Given the description of an element on the screen output the (x, y) to click on. 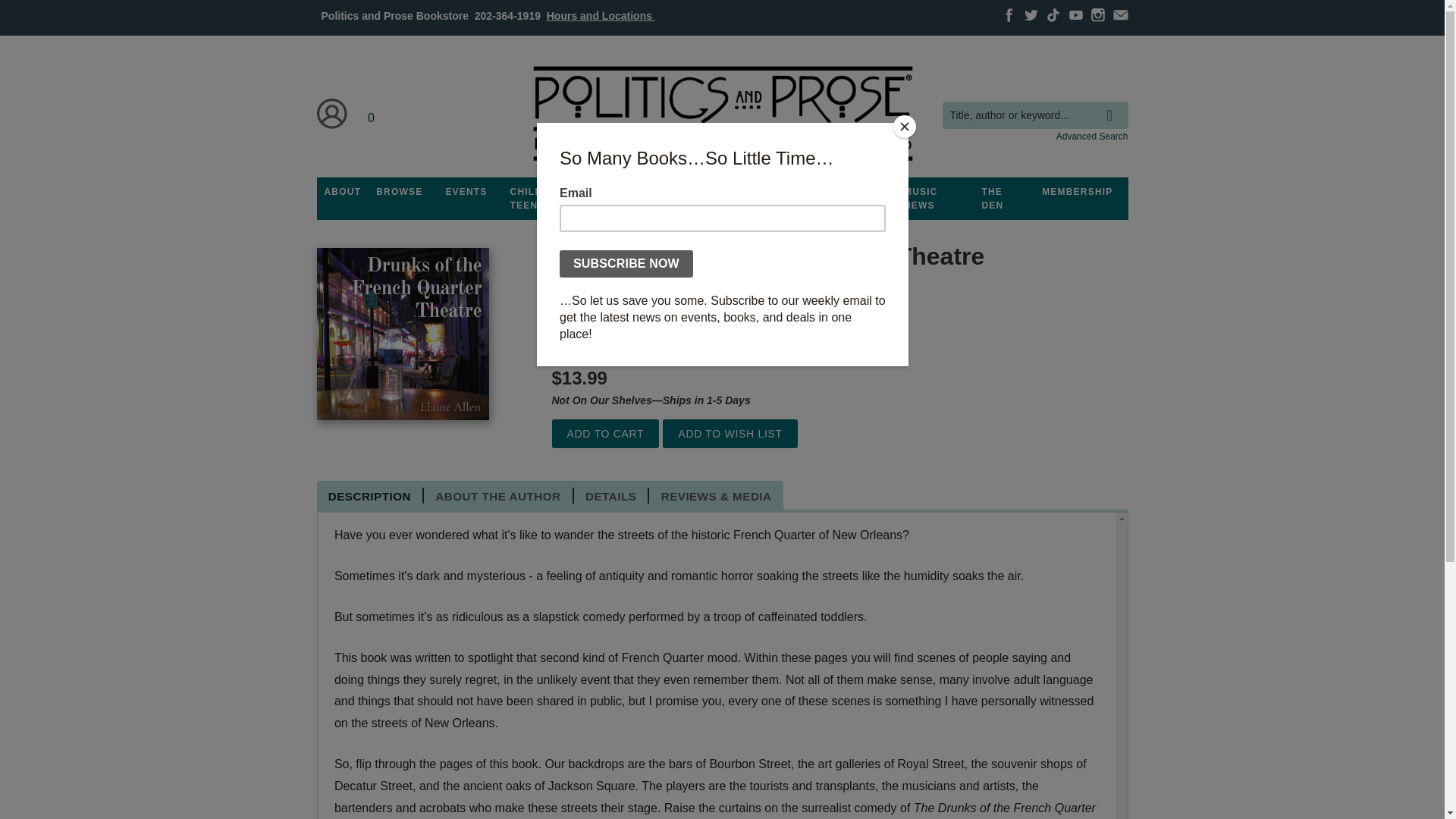
Browse our shelves (398, 191)
Advanced Search (1092, 136)
BROWSE (398, 191)
Hours and Locations  (601, 15)
Add to Wish List (729, 433)
SUBSCRIPTIONS (722, 191)
search (1112, 103)
See our store ours and locations (601, 15)
Title, author or keyword... (1034, 115)
Children and Teens Department (548, 198)
EVENTS (465, 191)
ABOUT (343, 191)
Add to Cart (605, 433)
See our event calendar (465, 191)
